Given the description of an element on the screen output the (x, y) to click on. 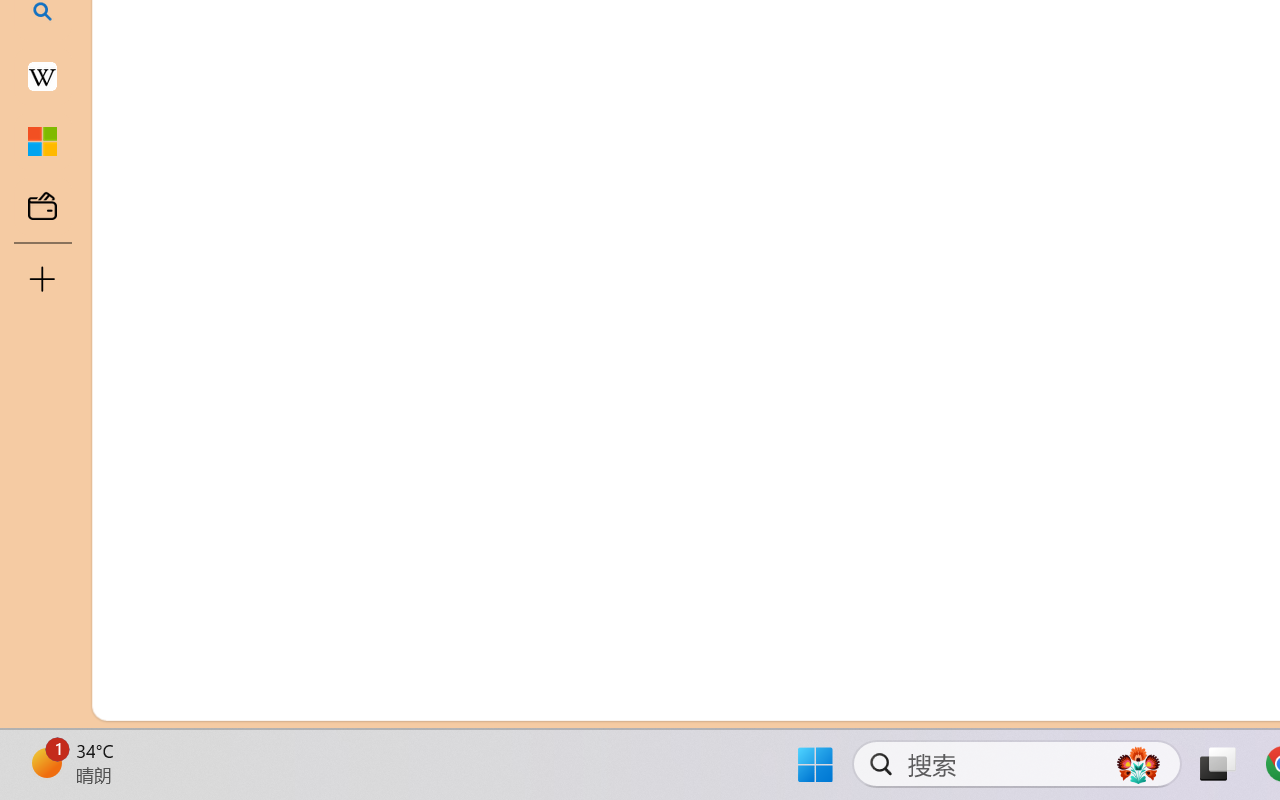
No Problems (212, 698)
Forwarded Ports: 36301, 47065, 38781, 45817, 50331 (308, 698)
Debug Console (Ctrl+Shift+Y) (854, 243)
Earth - Wikipedia (42, 75)
remote (122, 698)
Manage (135, 591)
